Given the description of an element on the screen output the (x, y) to click on. 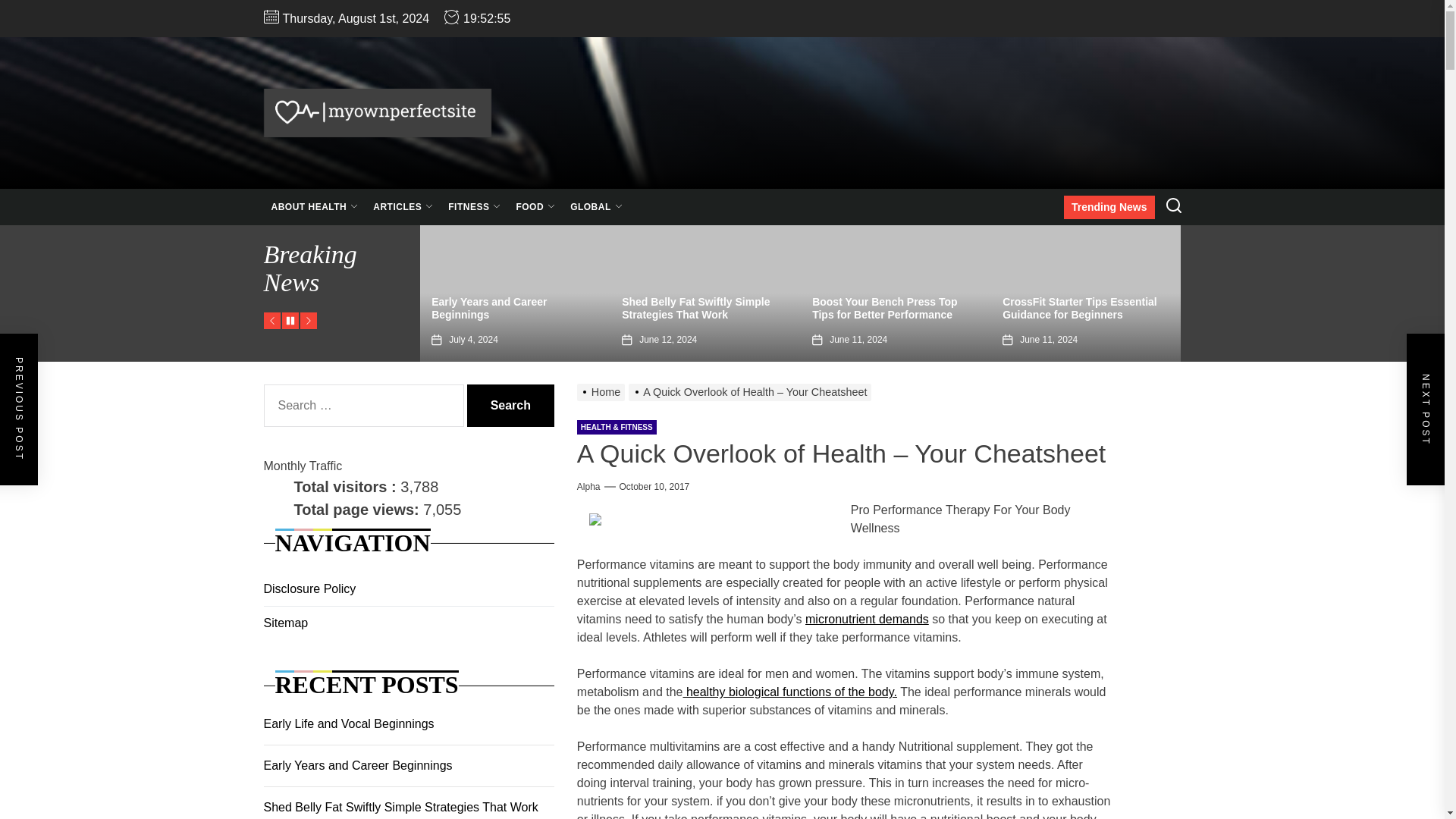
Trending News (1109, 207)
FITNESS (474, 207)
ABOUT HEALTH (314, 207)
GLOBAL (596, 207)
Search (510, 405)
Early Years and Career Beginnings (488, 308)
FOOD (535, 207)
ARTICLES (403, 207)
MYOWNPERFECTSITE (558, 168)
Search (510, 405)
